Given the description of an element on the screen output the (x, y) to click on. 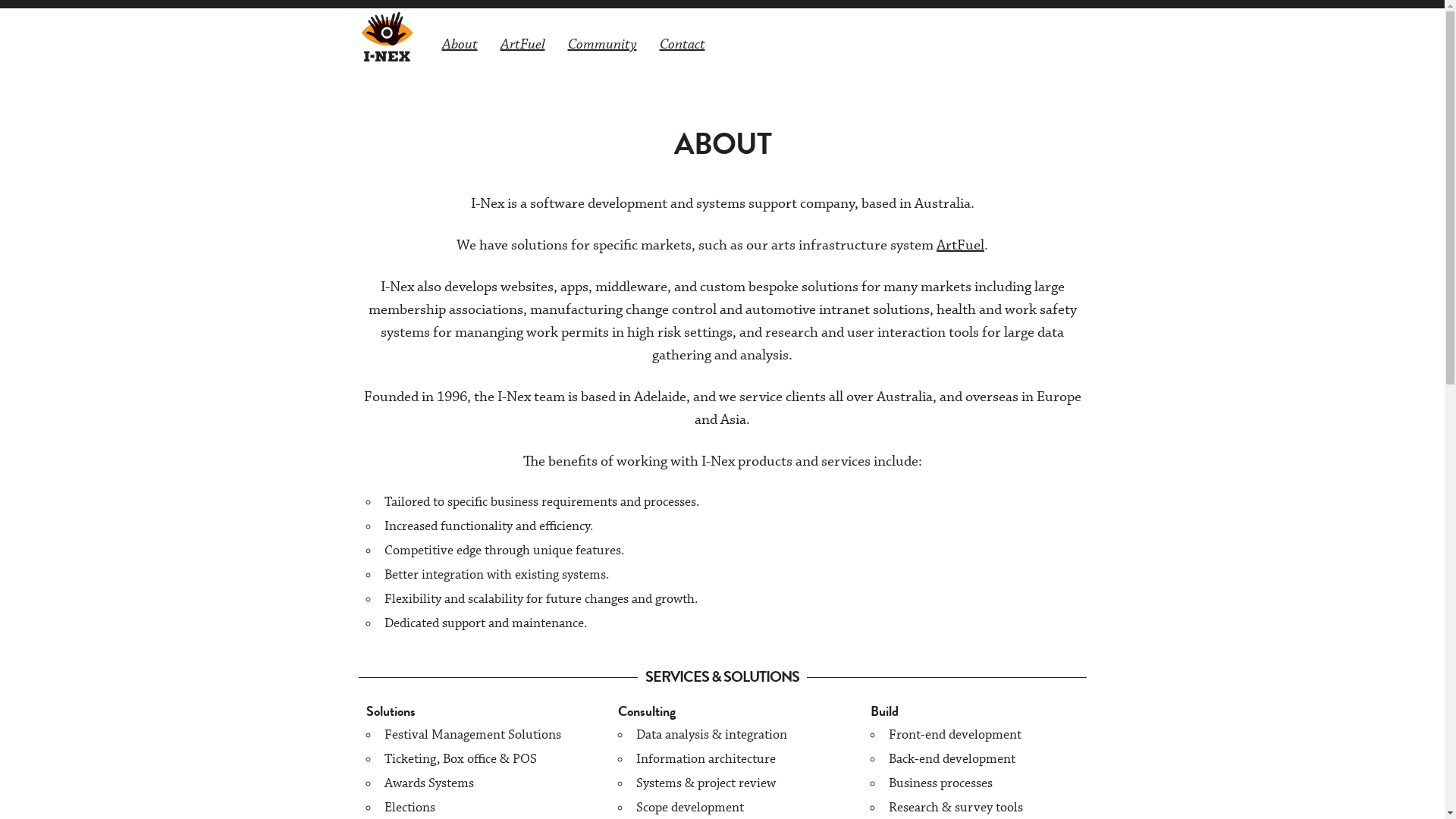
ArtFuel Element type: text (521, 43)
About Element type: text (459, 43)
Contact Element type: text (681, 43)
ArtFuel Element type: text (960, 244)
Community Element type: text (602, 43)
